Given the description of an element on the screen output the (x, y) to click on. 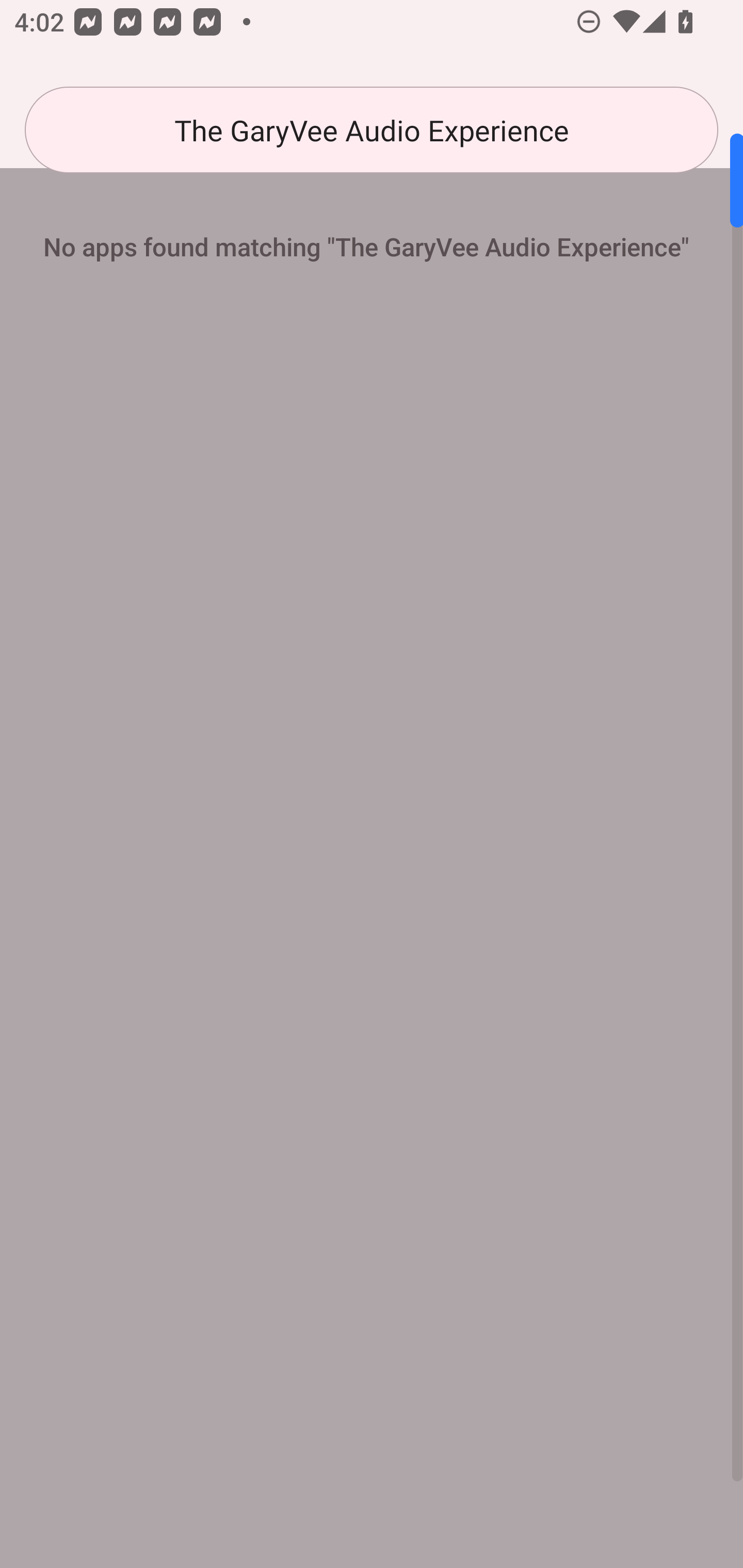
The GaryVee Audio Experience (371, 130)
